Given the description of an element on the screen output the (x, y) to click on. 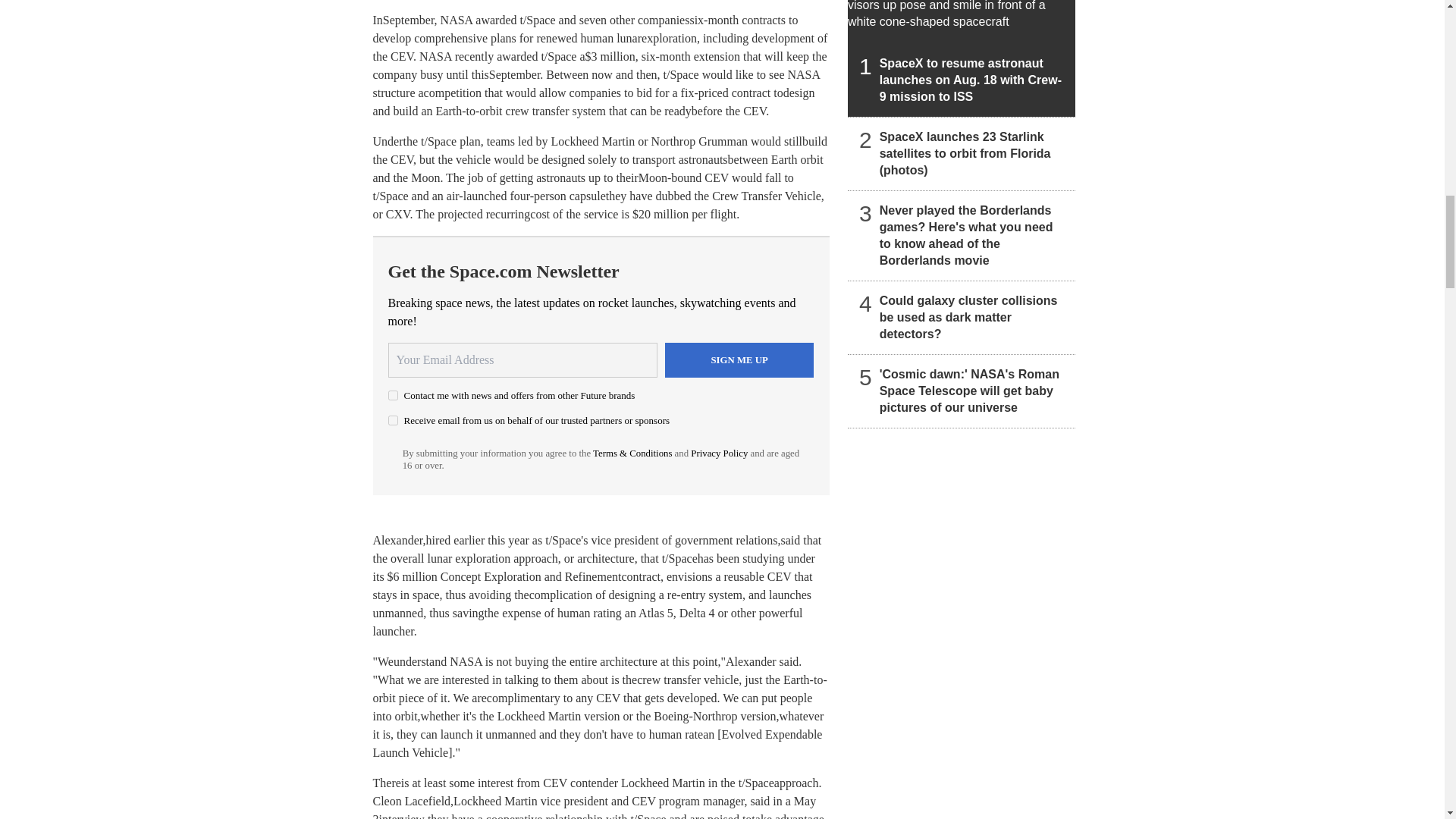
on (392, 420)
Sign me up (739, 360)
on (392, 395)
